Given the description of an element on the screen output the (x, y) to click on. 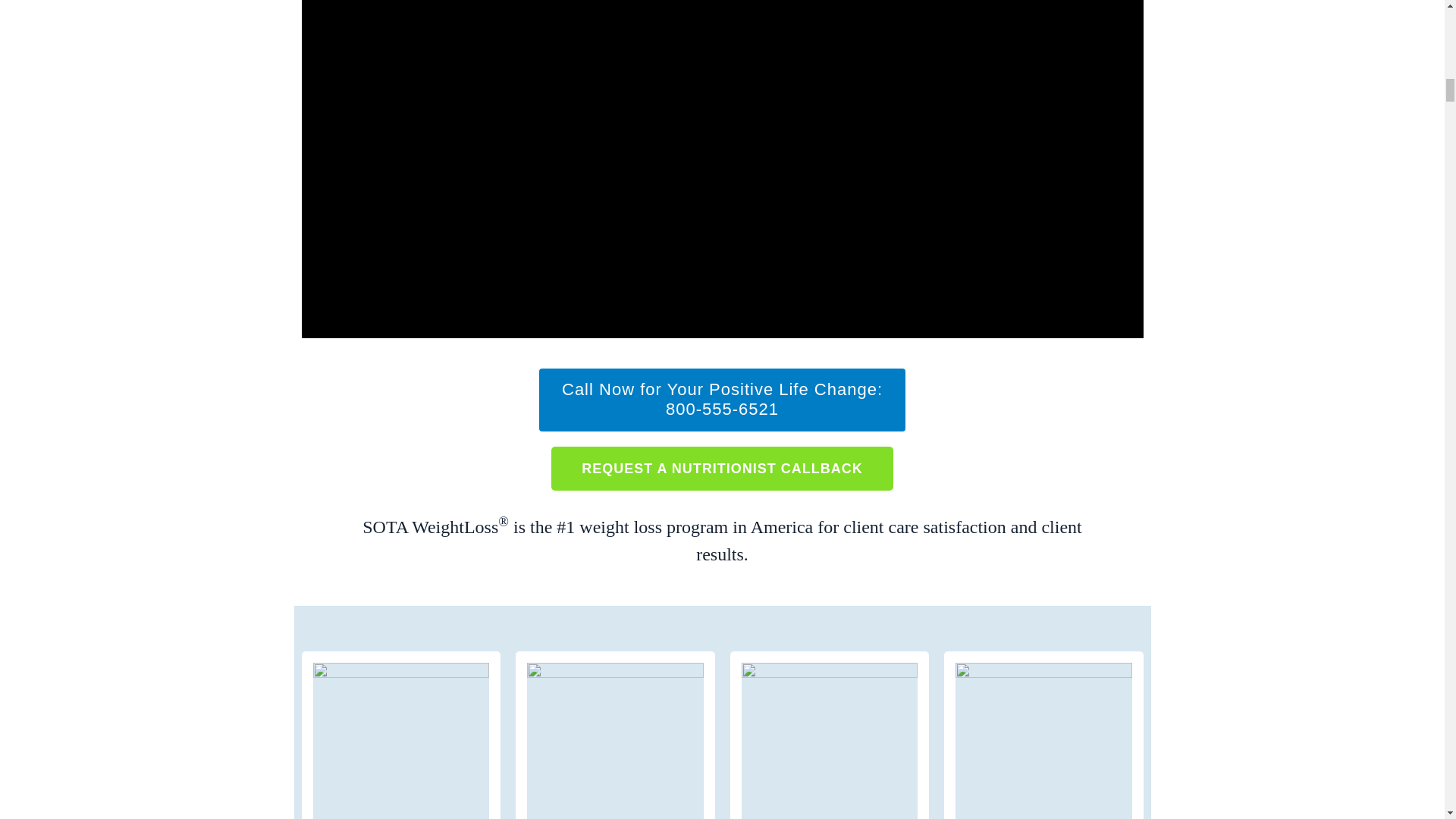
REQUEST A NUTRITIONIST CALLBACK (722, 467)
vimeo Video Player (721, 399)
